Given the description of an element on the screen output the (x, y) to click on. 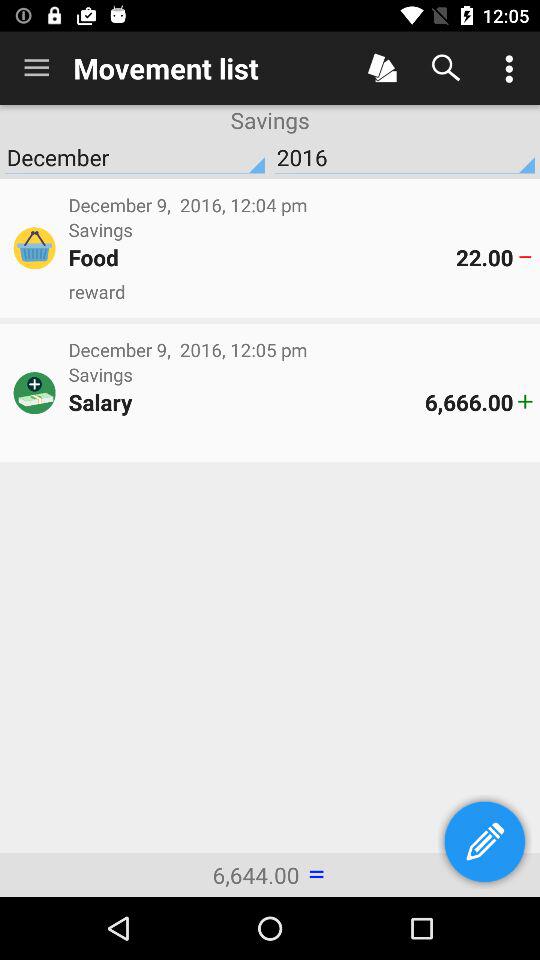
tap icon above december 9 2016 icon (300, 291)
